Given the description of an element on the screen output the (x, y) to click on. 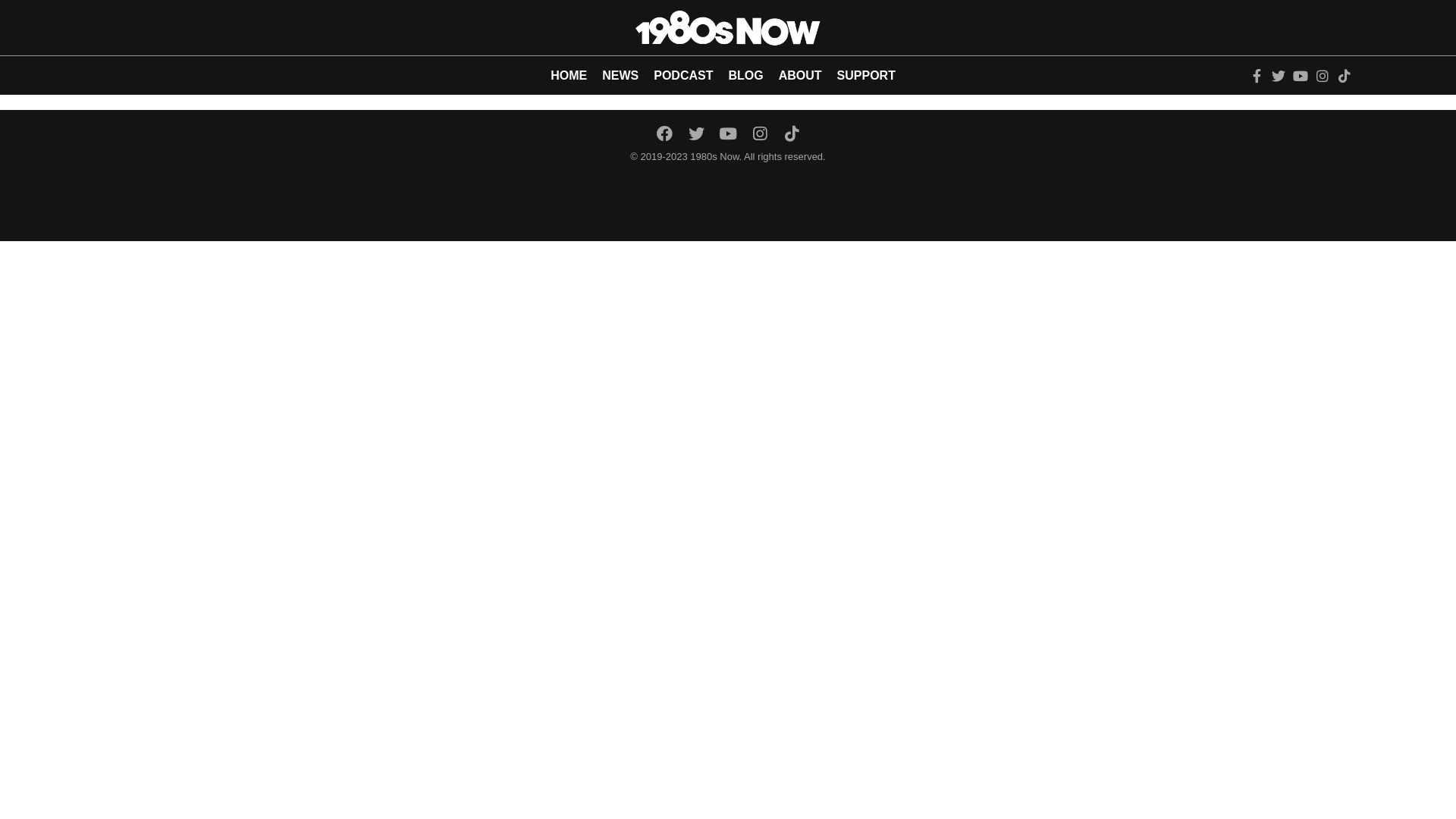
HOME Element type: text (568, 75)
BLOG Element type: text (745, 75)
ABOUT Element type: text (800, 75)
NEWS Element type: text (620, 75)
PODCAST Element type: text (683, 75)
SUPPORT Element type: text (866, 75)
